Given the description of an element on the screen output the (x, y) to click on. 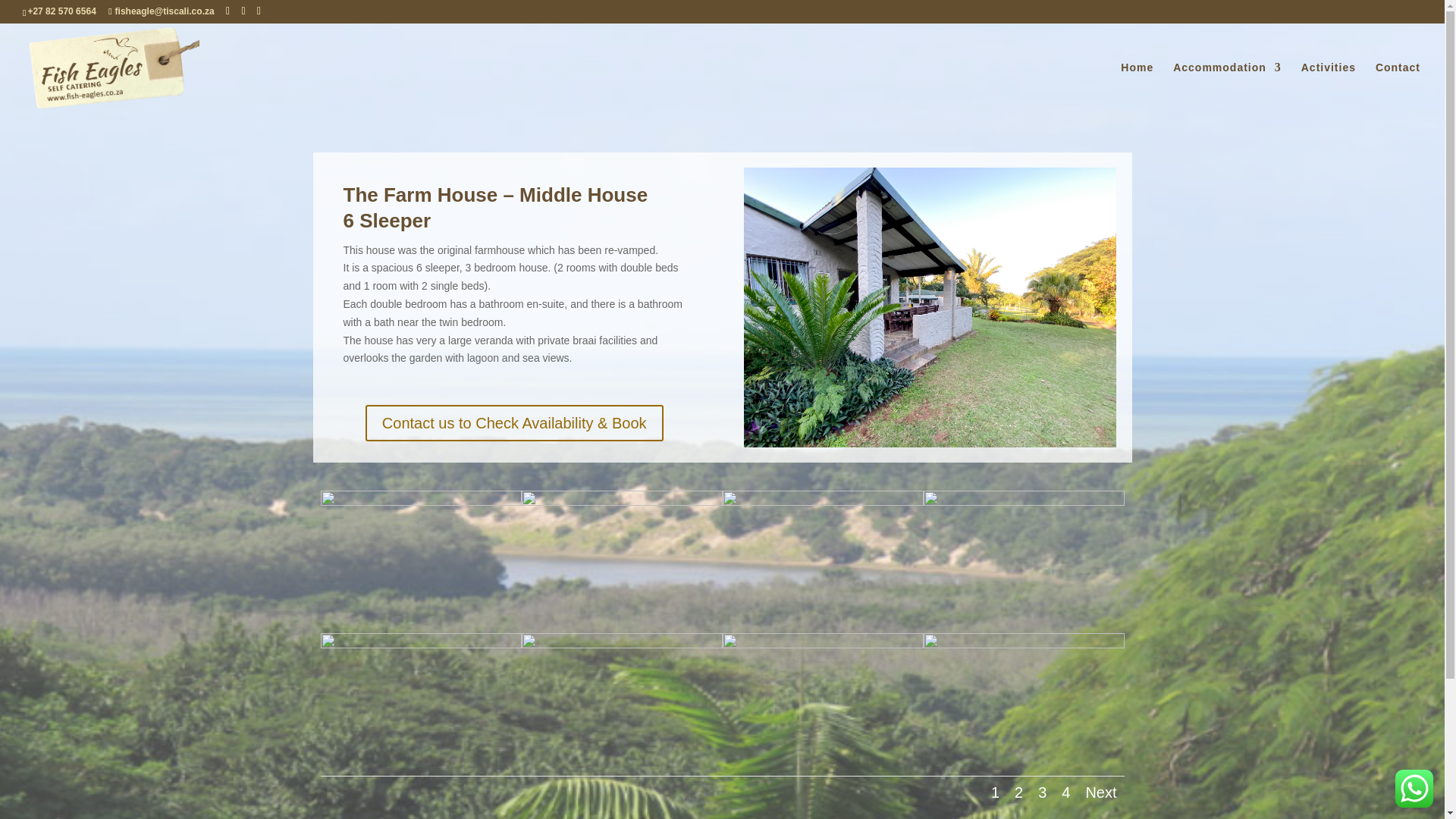
Home (1137, 86)
Fish Eagles Self Catering Cottages in Mtunzini-4803 (621, 501)
Accommodation (1227, 86)
Contact (1398, 86)
Fish Eagles Self Catering Cottages in Mtunzini-4796 (420, 644)
Fish Eagles Self Catering Cottages in Mtunzini-4804 (822, 501)
Activities (1328, 86)
Contact  (1398, 86)
Fish Eagles Self Catering Cottages in Mtunzini-4820 (420, 501)
Fish Eagles Self Catering Cottages in Mtunzini-4811 (1023, 501)
Fish Eagles Self Catering Cottages in Mtunzini-4877 (930, 307)
Accommodation (1227, 86)
Activities (1328, 86)
Home (1137, 86)
